Given the description of an element on the screen output the (x, y) to click on. 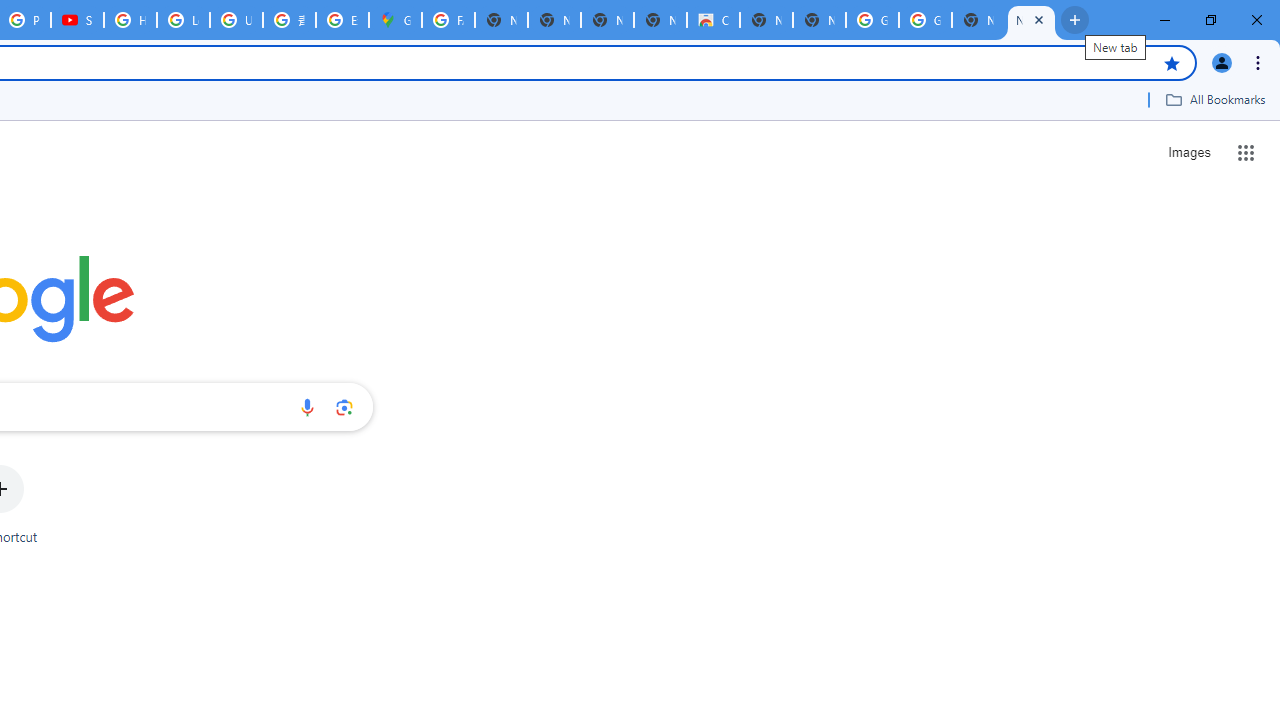
New Tab (819, 20)
Subscriptions - YouTube (77, 20)
New Tab (1031, 20)
Explore new street-level details - Google Maps Help (342, 20)
Google Images (872, 20)
Chrome Web Store (713, 20)
